Given the description of an element on the screen output the (x, y) to click on. 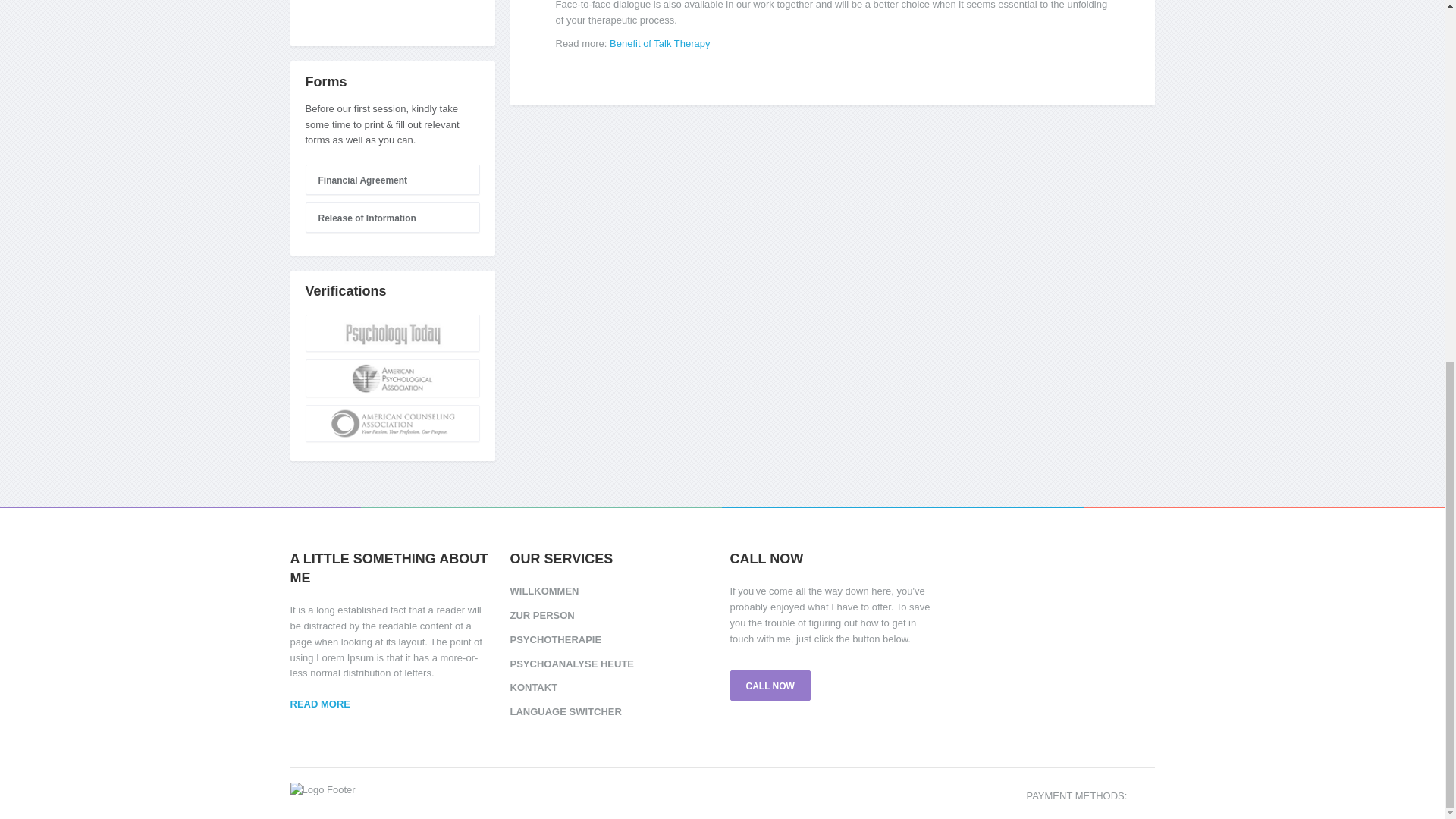
PSYCHOTHERAPIE (611, 639)
LANGUAGE SWITCHER (611, 711)
KONTAKT (611, 688)
CALL NOW (769, 685)
Benefit (660, 43)
Benefit of Talk Therapy (660, 43)
WILLKOMMEN (611, 592)
PSYCHOANALYSE HEUTE (611, 664)
Financial Agreement (391, 179)
Release of Information (391, 217)
